Given the description of an element on the screen output the (x, y) to click on. 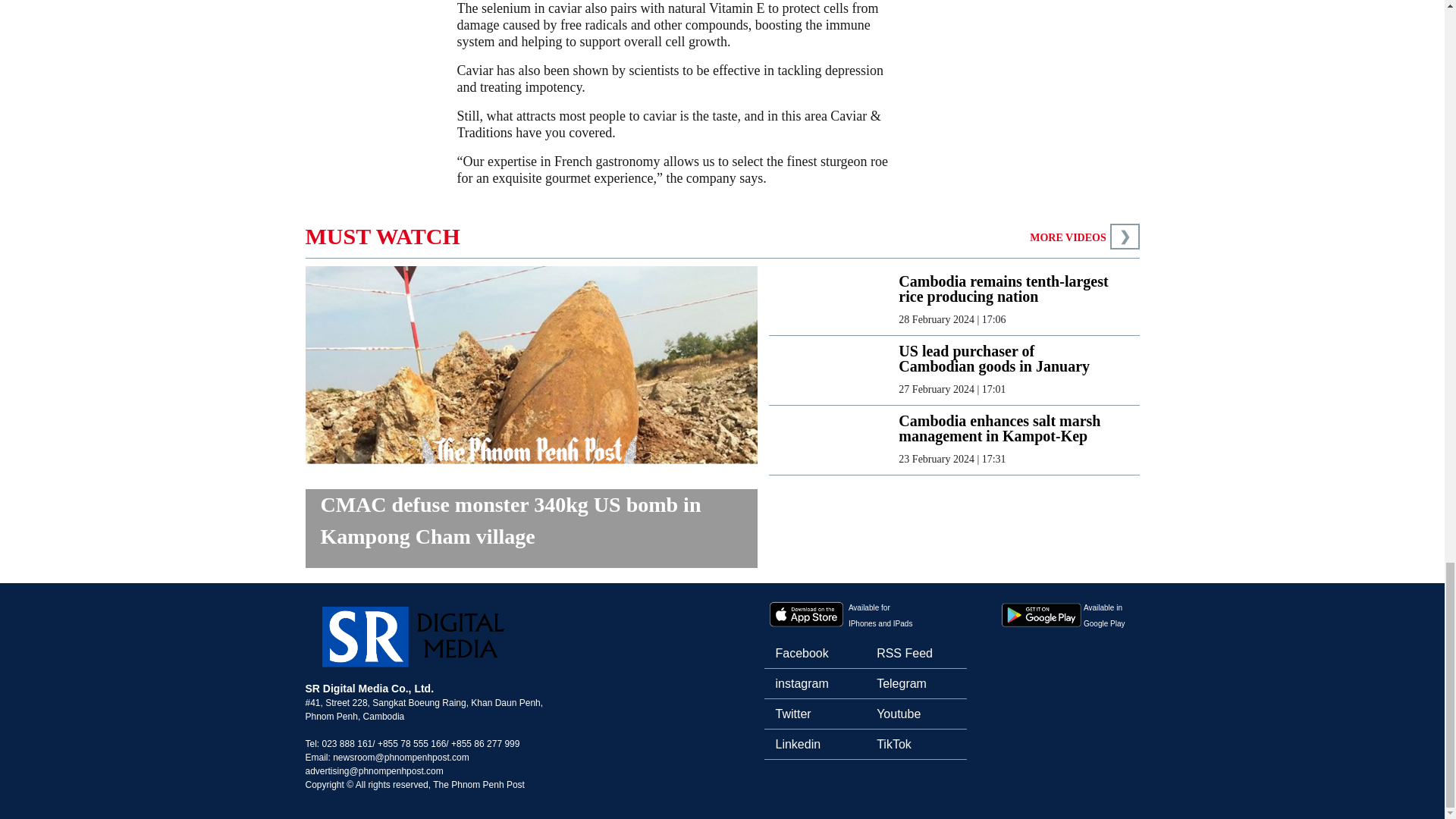
Cambodia remains tenth-largest rice producing nation (1005, 288)
CMAC defuse monster 340kg US bomb in Kampong Cham village (530, 528)
MORE VIDEOS (1067, 237)
